Given the description of an element on the screen output the (x, y) to click on. 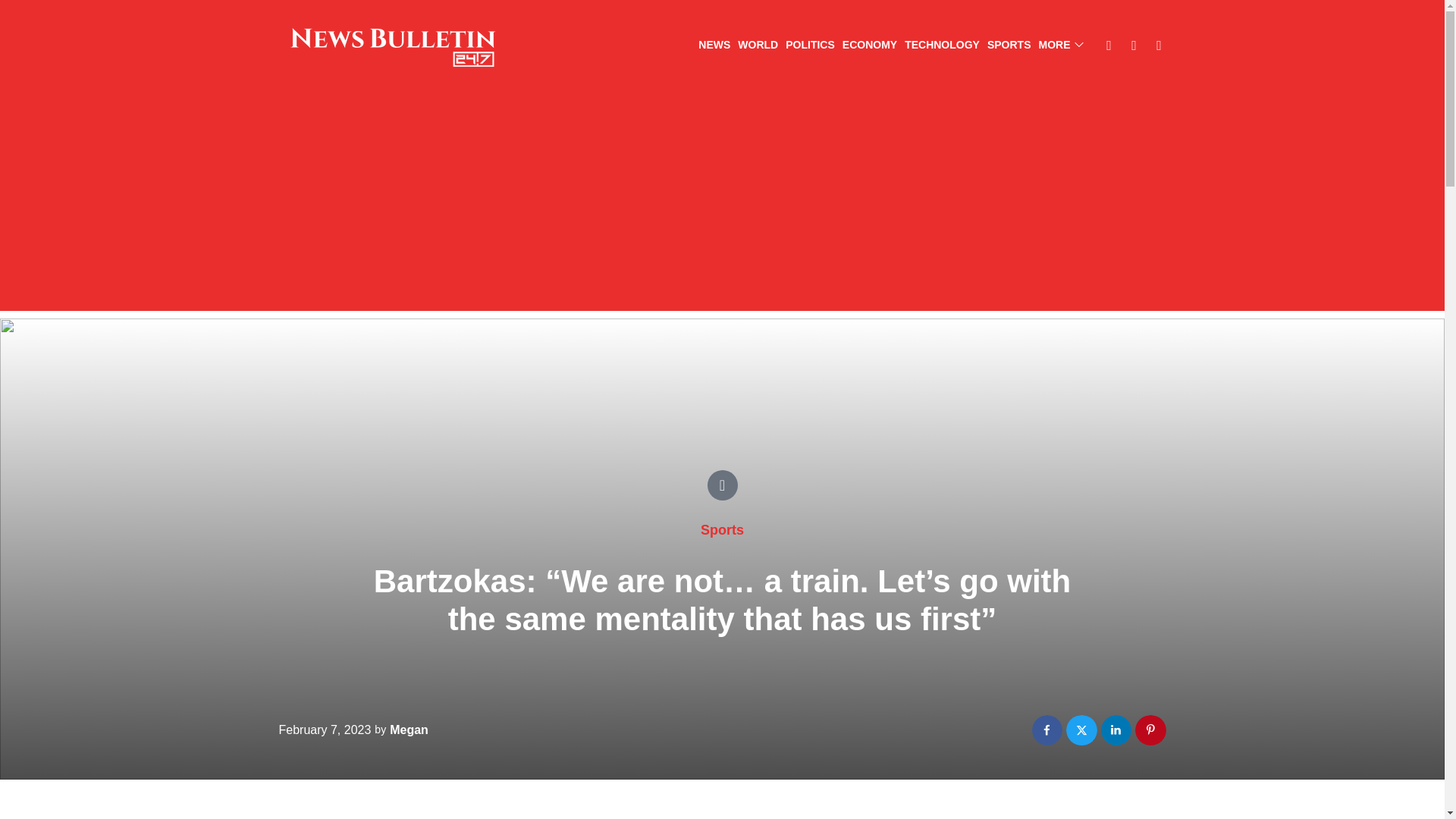
ECONOMY (869, 45)
NEWS (714, 45)
TECHNOLOGY (941, 45)
WORLD (757, 45)
MORE (1061, 45)
Sports (722, 529)
SPORTS (1008, 45)
POLITICS (810, 45)
